Given the description of an element on the screen output the (x, y) to click on. 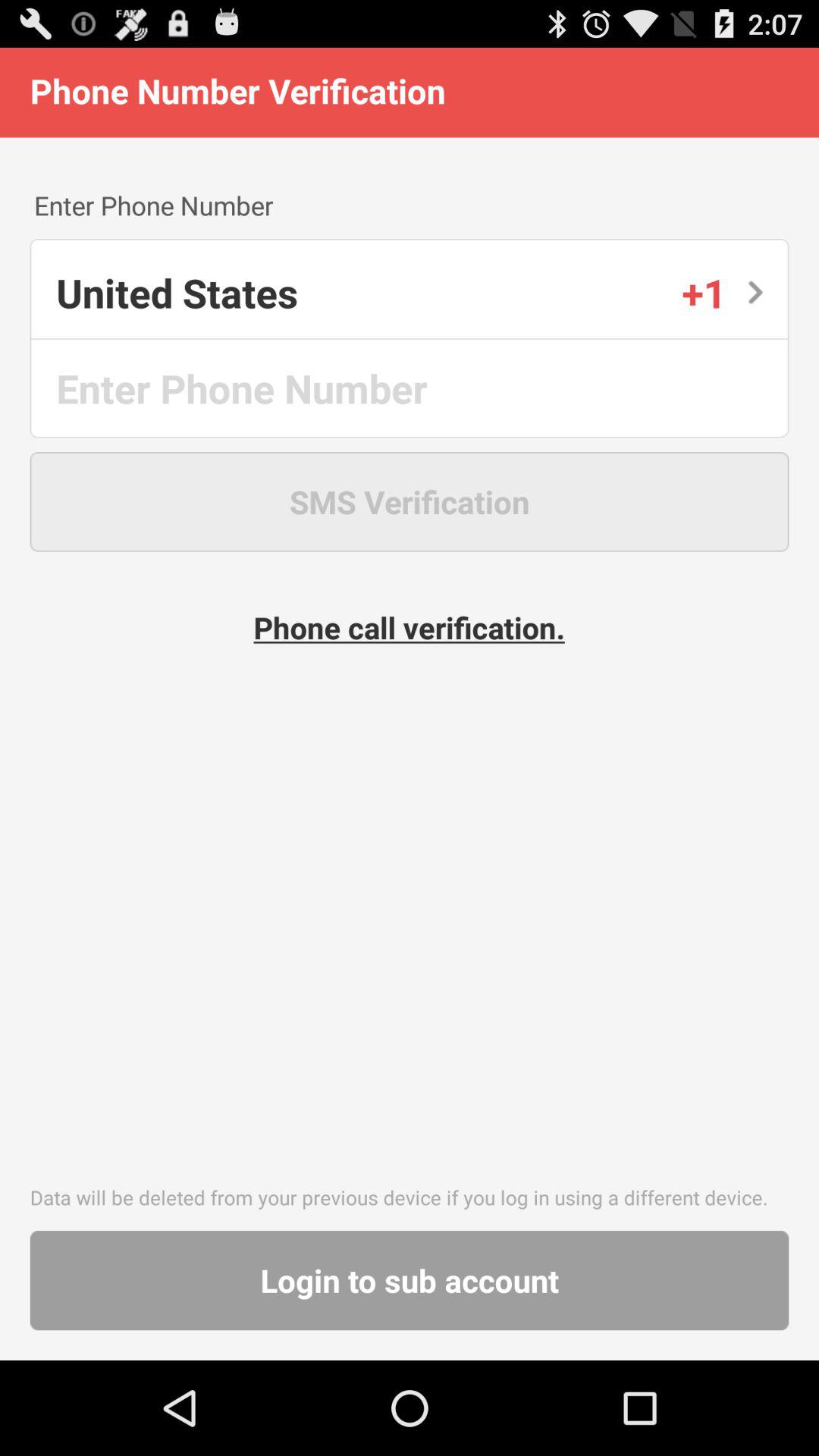
type phone number (411, 387)
